Given the description of an element on the screen output the (x, y) to click on. 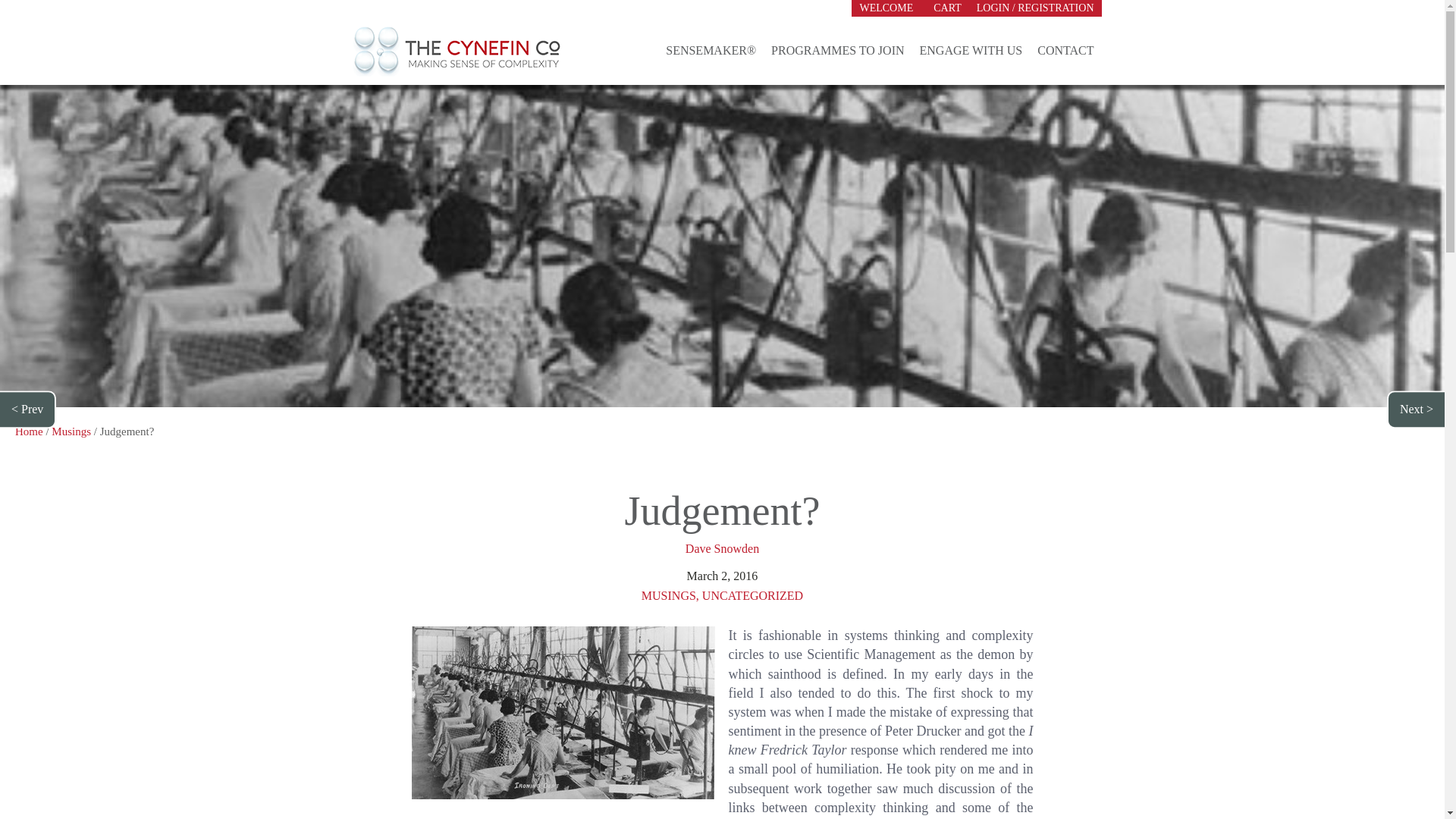
Home (28, 431)
PROGRAMMES TO JOIN (836, 51)
Dave Snowden (721, 548)
CONTACT (1064, 51)
CART (947, 8)
ENGAGE WITH US (971, 51)
WELCOME   (888, 8)
Musings (70, 431)
